Given the description of an element on the screen output the (x, y) to click on. 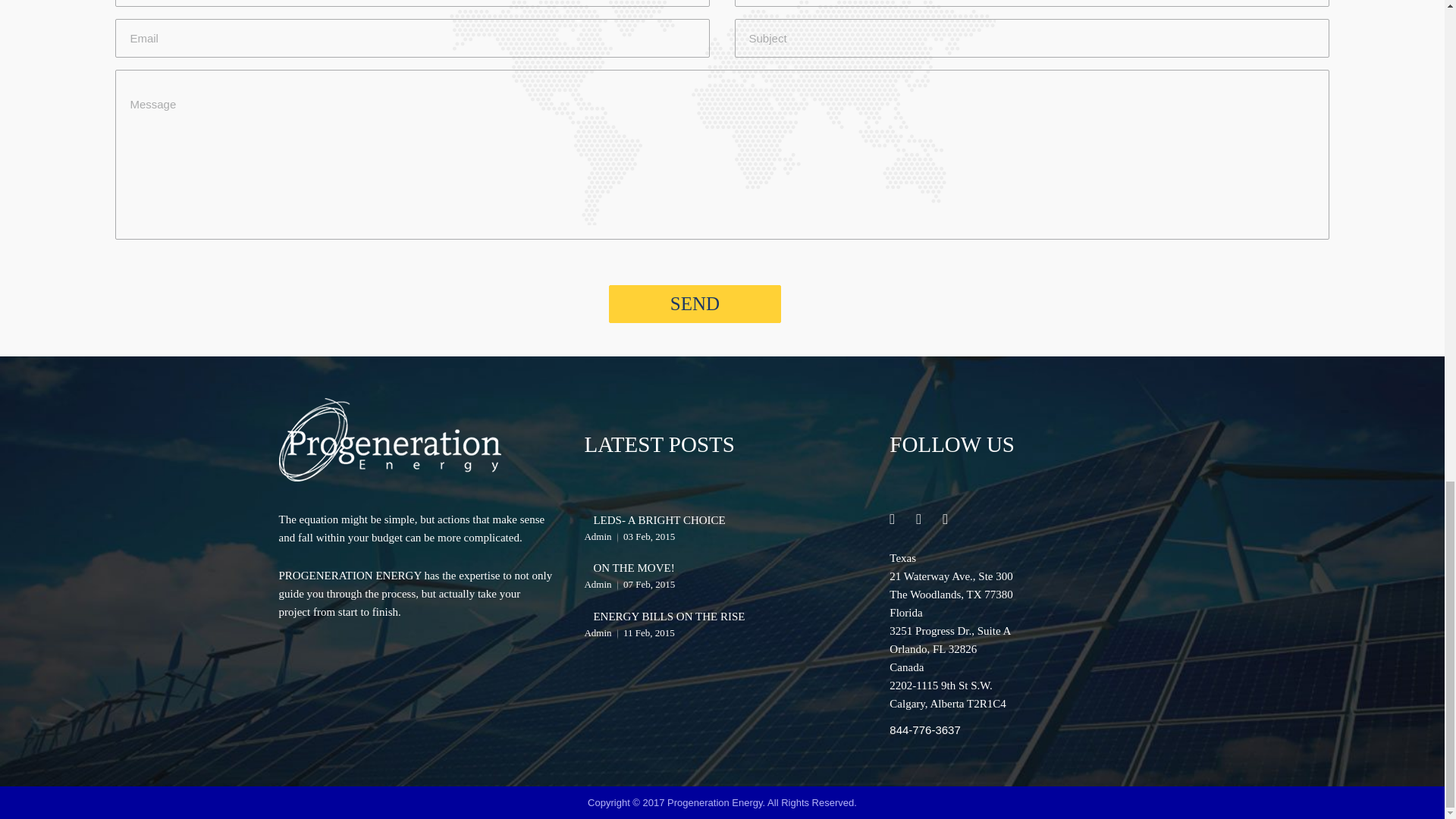
844-776-3637 (924, 729)
Send (694, 303)
ENERGY BILLS ON THE RISE (668, 616)
LEDS- A BRIGHT CHOICE (658, 520)
Send (694, 303)
ON THE MOVE! (633, 567)
